Given the description of an element on the screen output the (x, y) to click on. 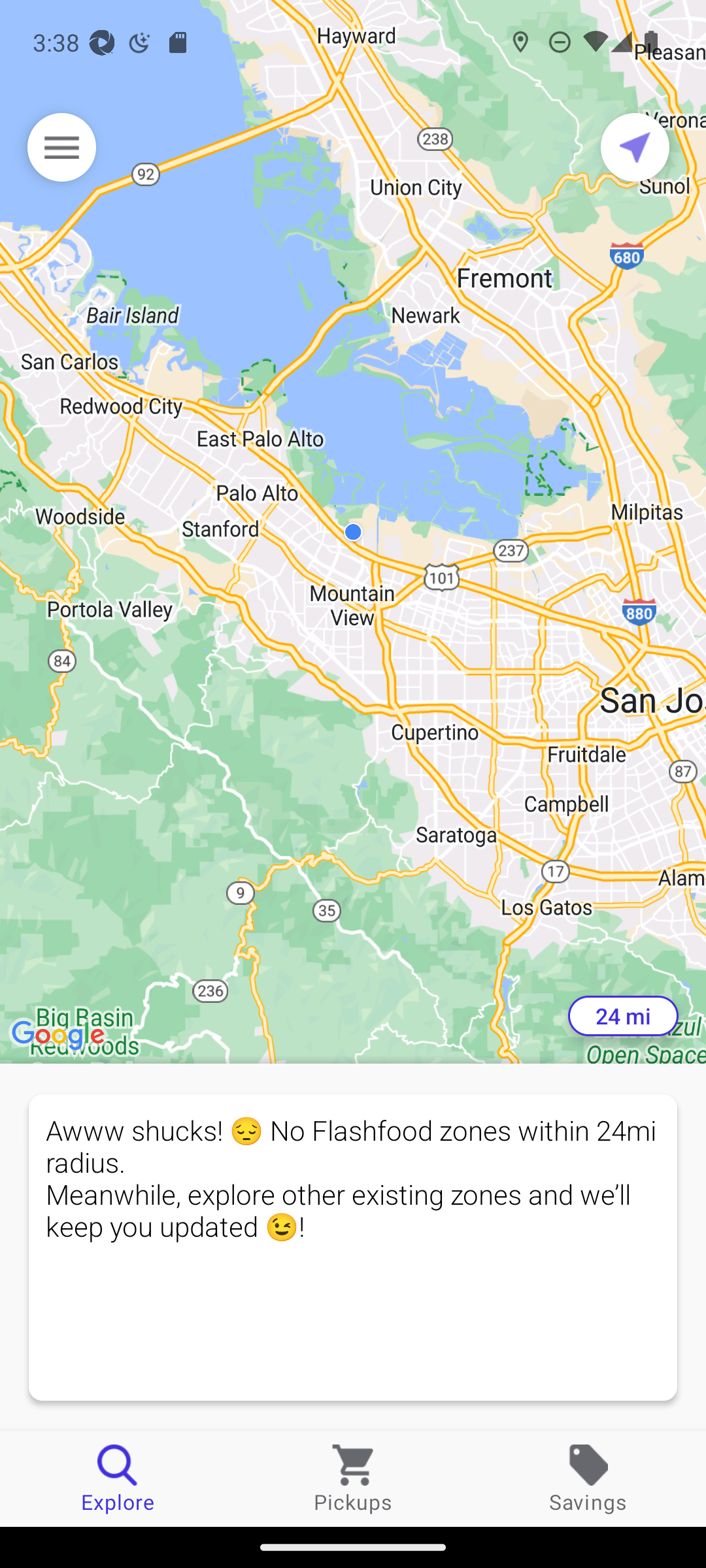
Menu (61, 146)
Current location (634, 146)
24 mi (623, 1015)
Pickups (352, 1478)
Savings (588, 1478)
